Given the description of an element on the screen output the (x, y) to click on. 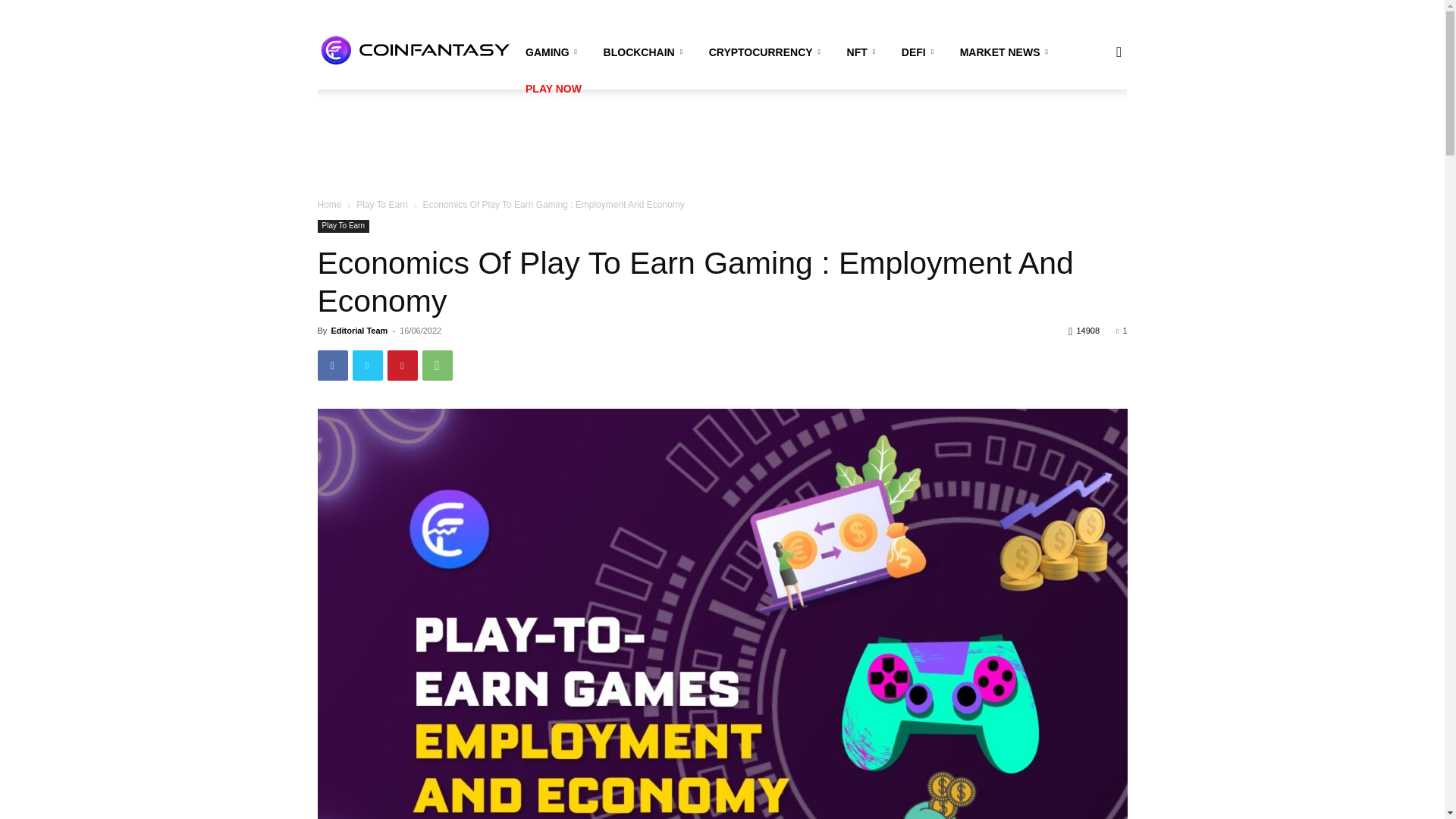
GAMING (553, 52)
BLOCKCHAIN (645, 52)
CRYPTOCURRENCY (766, 52)
WhatsApp (436, 365)
MARKET NEWS (1006, 52)
Facebook (332, 365)
NFT (863, 52)
Pinterest (401, 365)
DEFI (920, 52)
Twitter (366, 365)
View all posts in Play To Earn (381, 204)
